Given the description of an element on the screen output the (x, y) to click on. 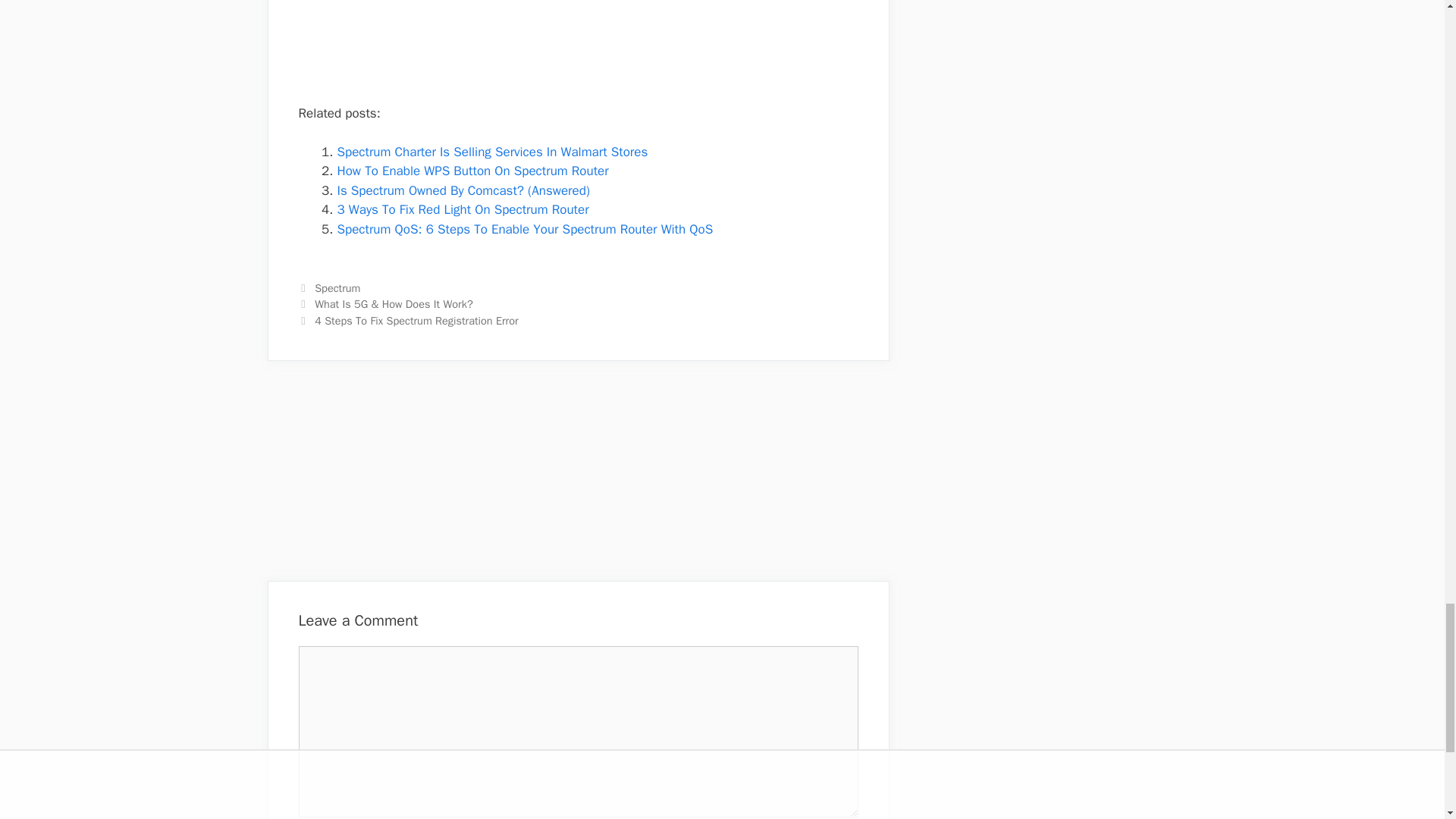
Next (408, 320)
How To Enable WPS Button On Spectrum Router (472, 170)
3 Ways To Fix Red Light On Spectrum Router (462, 209)
Spectrum Charter Is Selling Services In Walmart Stores (491, 151)
3 Ways To Fix Red Light On Spectrum Router (462, 209)
How To Enable WPS Button On Spectrum Router (472, 170)
Previous (385, 304)
Spectrum Charter Is Selling Services In Walmart Stores (491, 151)
